Given the description of an element on the screen output the (x, y) to click on. 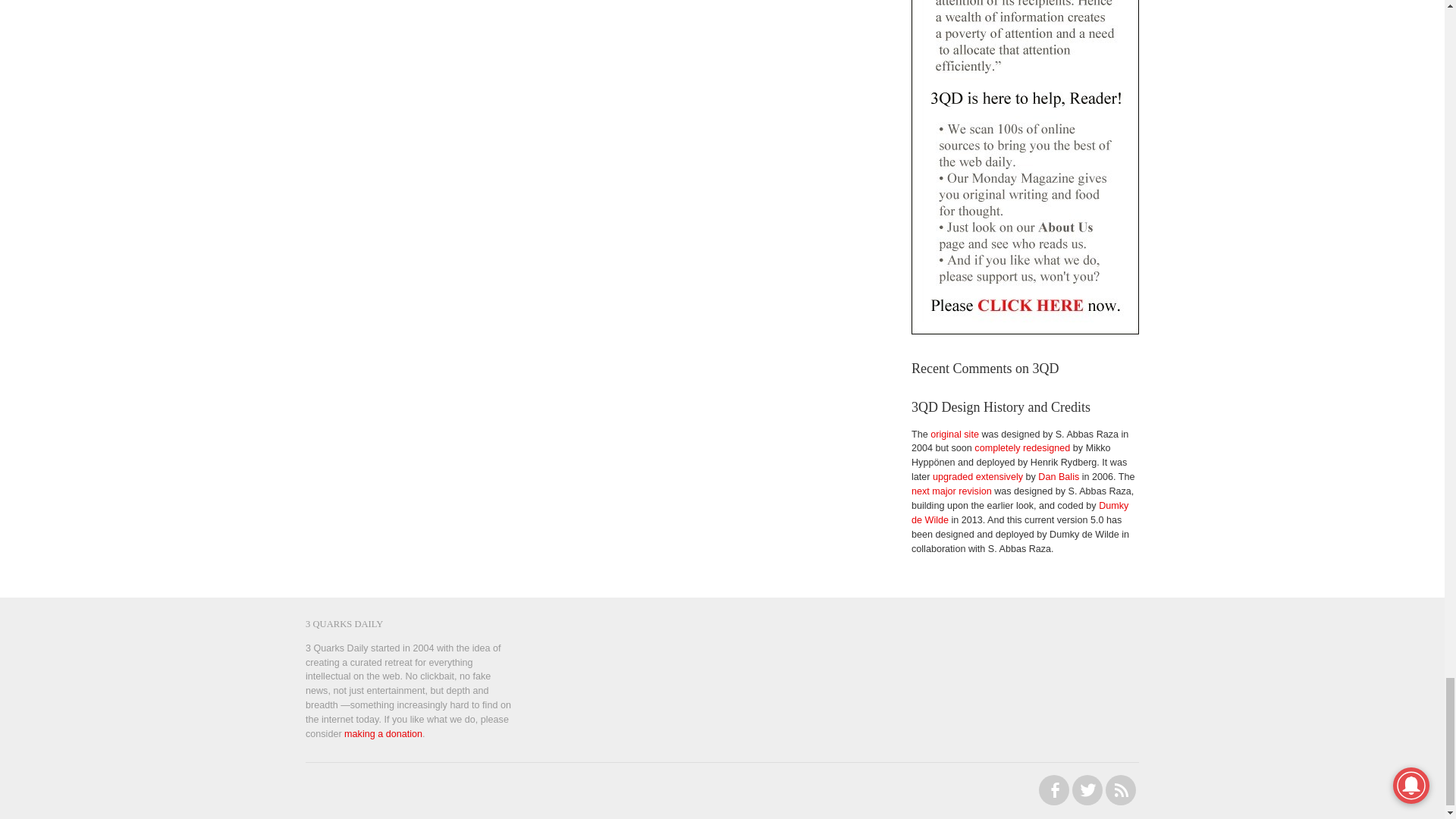
3rd party ad content (1034, 655)
original site (954, 434)
